Given the description of an element on the screen output the (x, y) to click on. 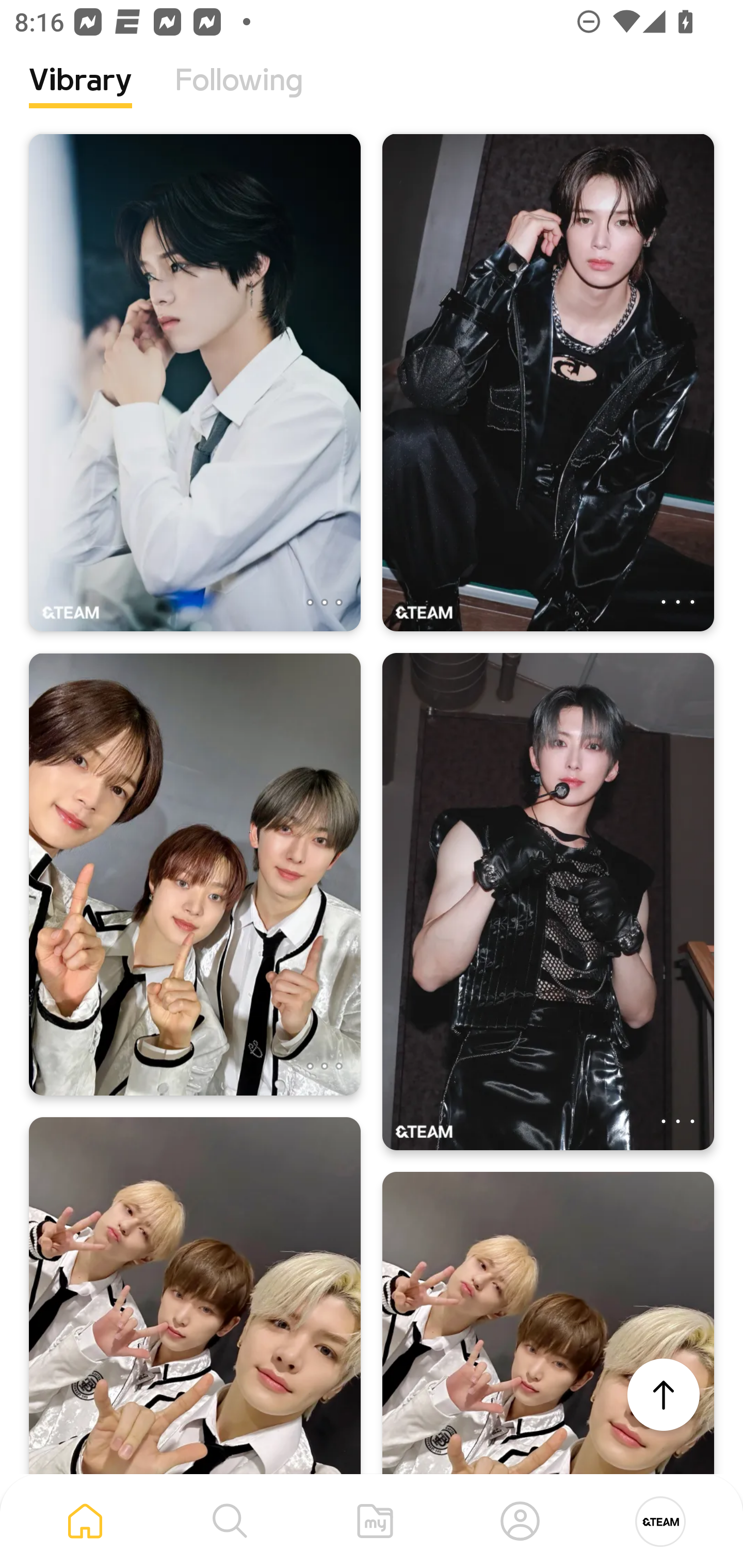
Vibrary (80, 95)
Following (239, 95)
